Given the description of an element on the screen output the (x, y) to click on. 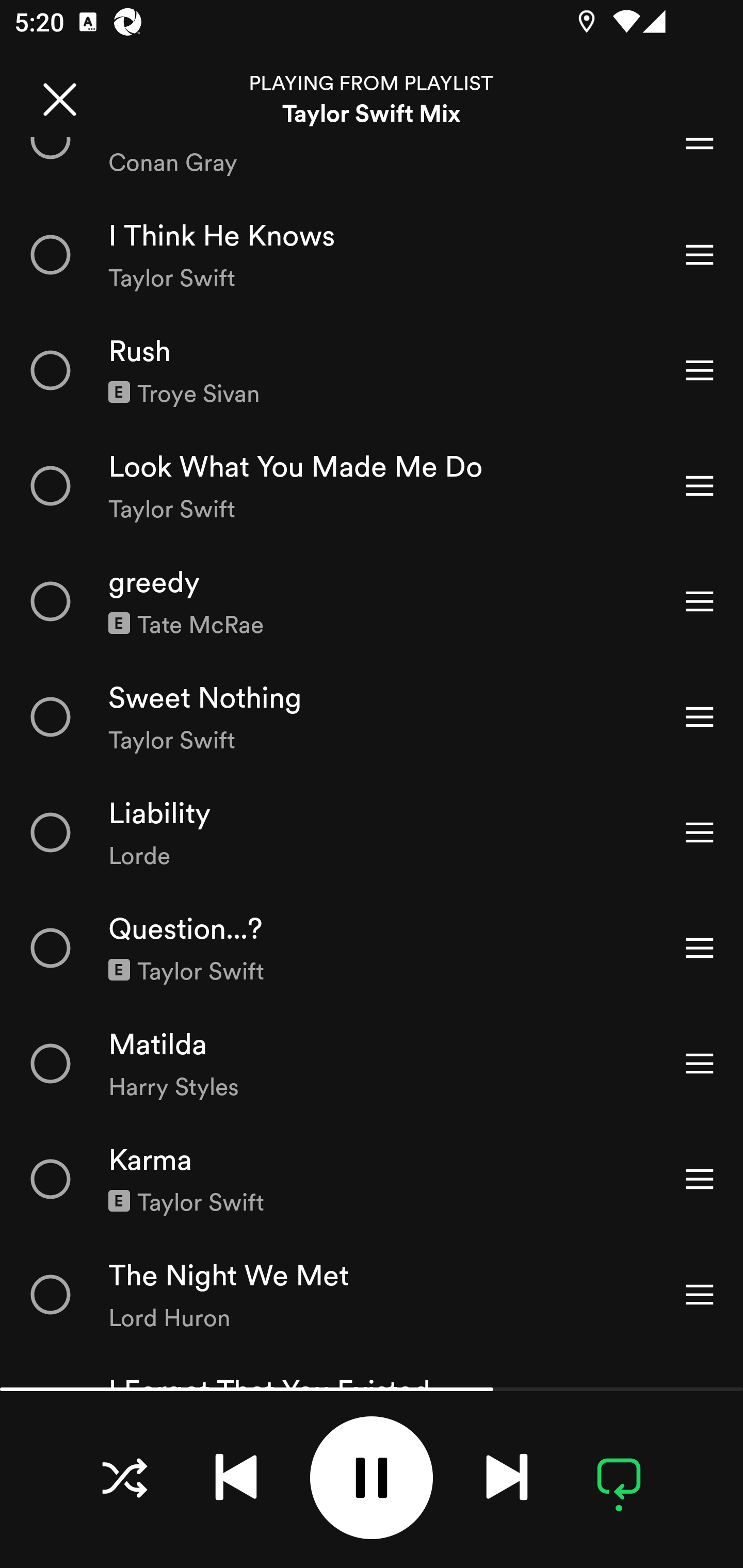
Close (59, 99)
PLAYING FROM PLAYLIST Taylor Swift Mix (371, 99)
People Watching Conan Gray Reorder track (371, 167)
I Think He Knows Taylor Swift Reorder track (371, 254)
Rush Explicit Troye Sivan Reorder track (371, 370)
greedy Explicit Tate McRae Reorder track (371, 601)
Sweet Nothing Taylor Swift Reorder track (371, 716)
Liability Lorde Reorder track (371, 832)
Question...? Explicit Taylor Swift Reorder track (371, 947)
Matilda Harry Styles Reorder track (371, 1063)
Karma Explicit Taylor Swift Reorder track (371, 1179)
The Night We Met Lord Huron Reorder track (371, 1294)
Pause (371, 1477)
Previous (235, 1477)
Next (507, 1477)
Choose a Listening Mode (123, 1477)
Repeat (618, 1477)
